Given the description of an element on the screen output the (x, y) to click on. 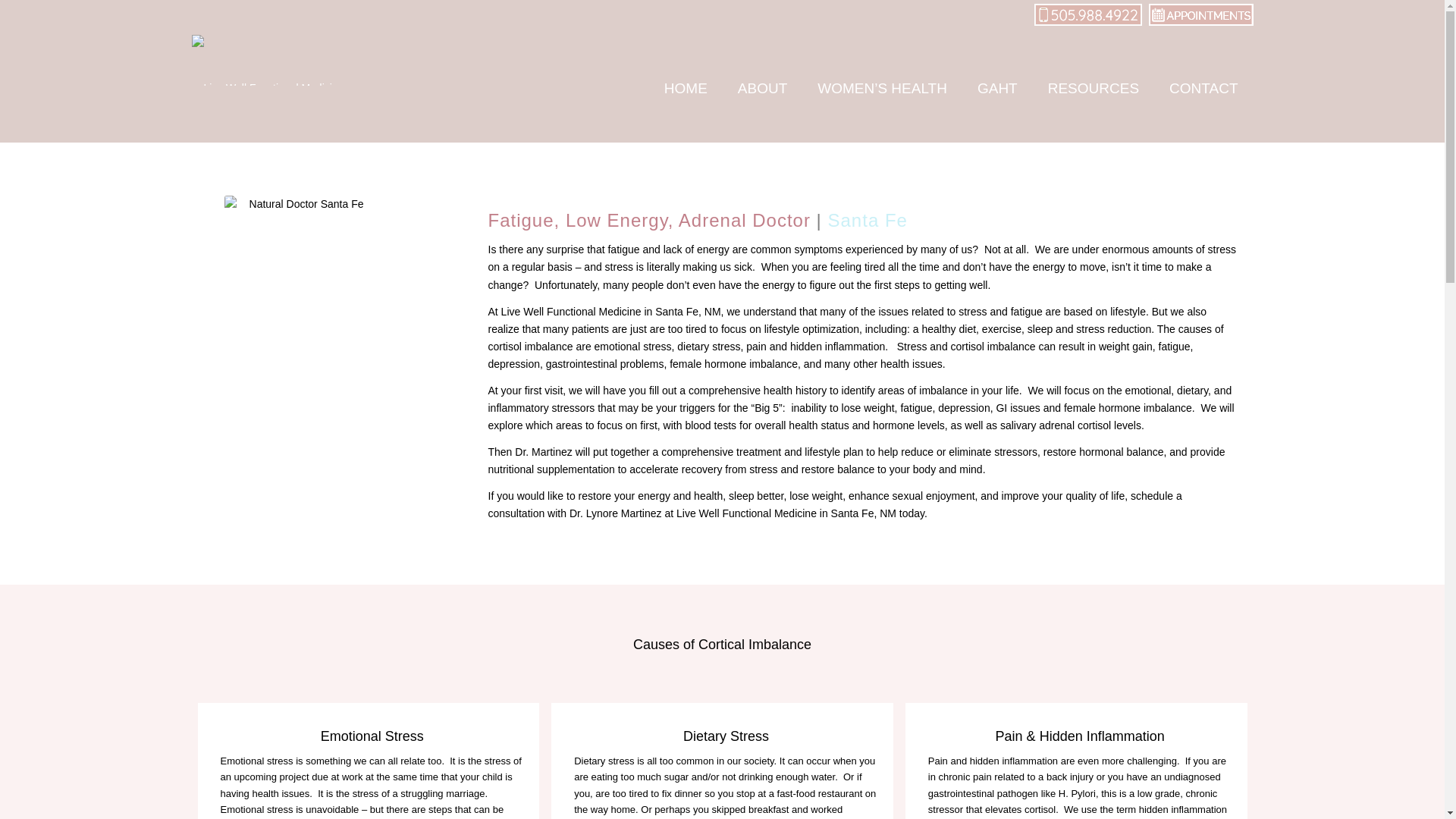
CONTACT (1203, 88)
RESOURCES (1093, 88)
